Given the description of an element on the screen output the (x, y) to click on. 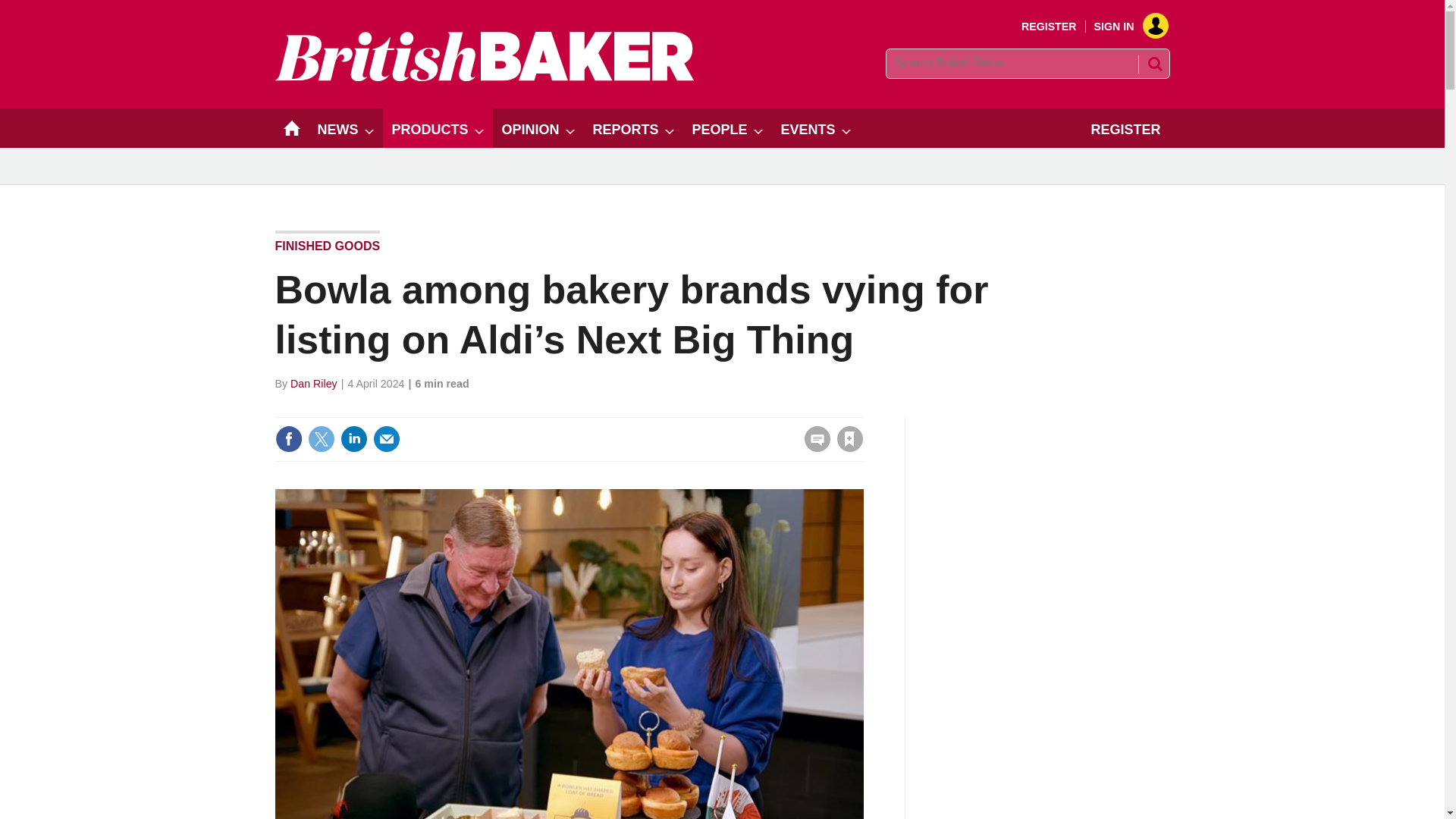
Email this article (386, 438)
SIGN IN (1125, 26)
Site name (484, 76)
Share this on Twitter (320, 438)
SEARCH (1153, 63)
Share this on Facebook (288, 438)
REGISTER (1049, 26)
Share this on Linked in (352, 438)
No comments (812, 447)
